Given the description of an element on the screen output the (x, y) to click on. 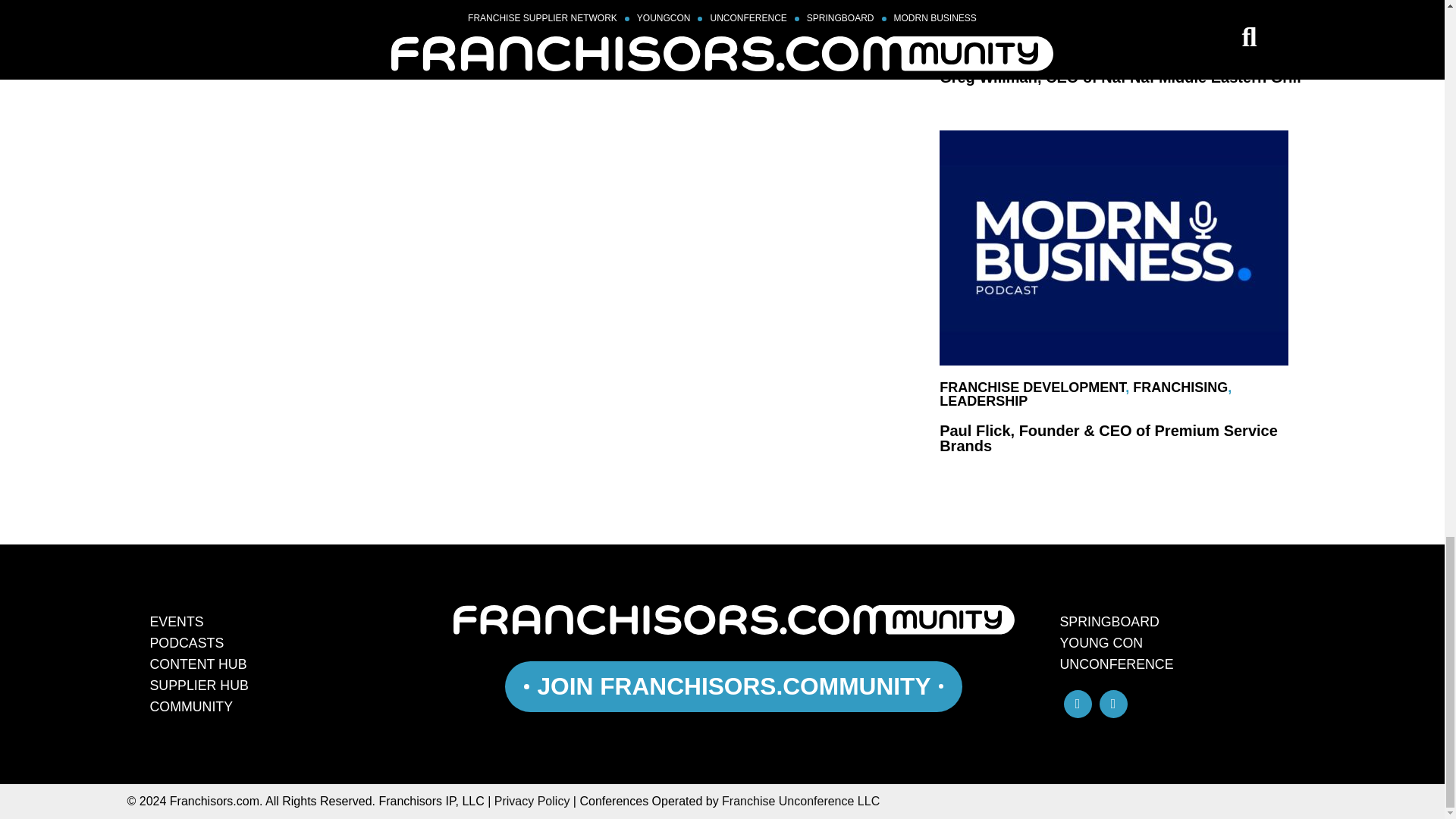
View all posts in Leadership (983, 400)
View all posts in Franchise development (1114, 33)
View all posts in Franchise development (1032, 387)
View all posts in Emerging (976, 33)
View all posts in Franchising (1179, 387)
View all posts in Growth (970, 47)
View all posts in Franchising (1261, 33)
